Given the description of an element on the screen output the (x, y) to click on. 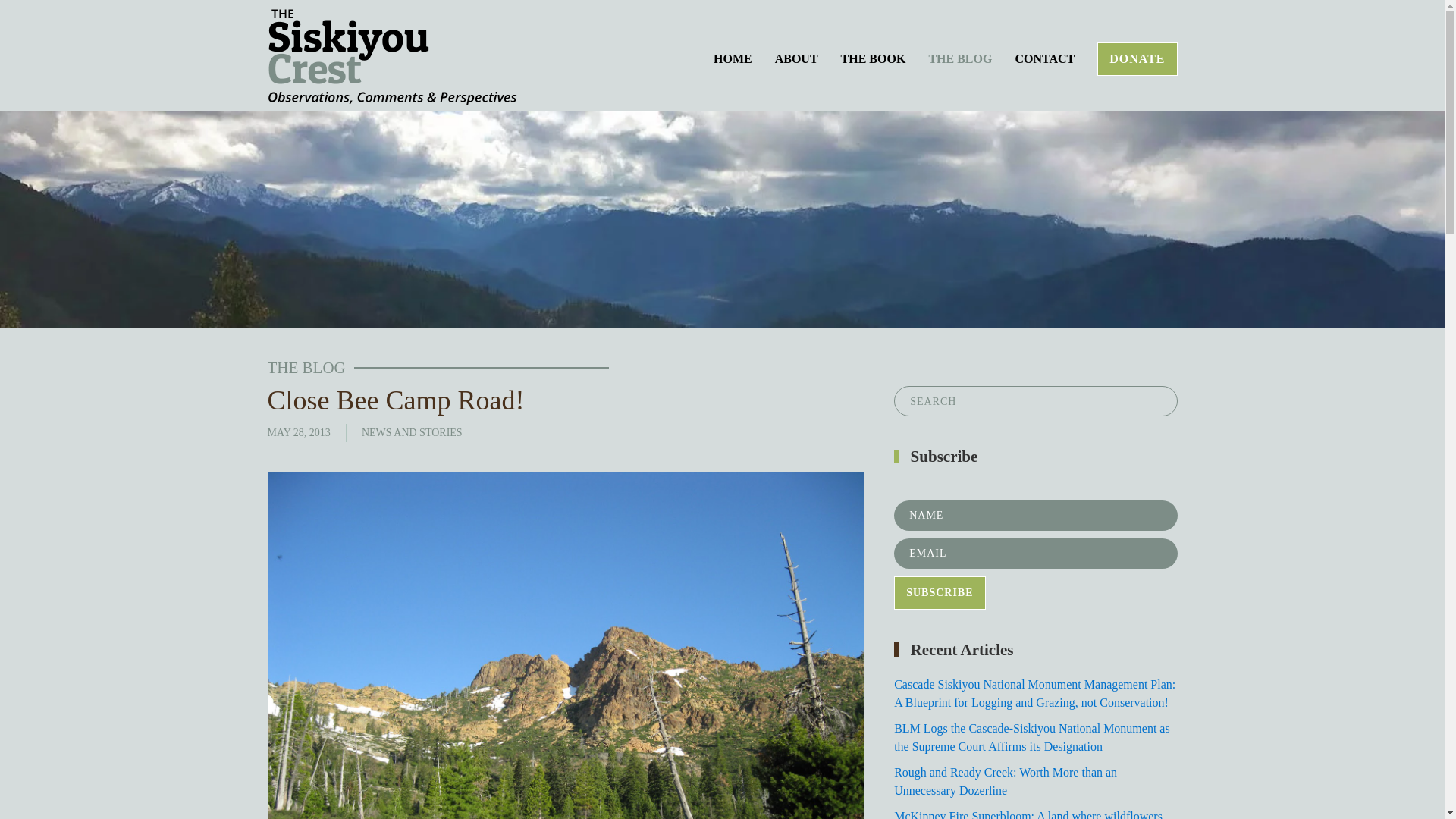
NEWS AND STORIES (412, 432)
McKinney Fire Superbloom: A land where wildflowers dominate (1027, 814)
DONATE (1136, 59)
SUBSCRIBE (939, 592)
CONTACT (1044, 58)
SUBSCRIBE (939, 592)
THE BOOK (873, 58)
THE BLOG (959, 58)
